Given the description of an element on the screen output the (x, y) to click on. 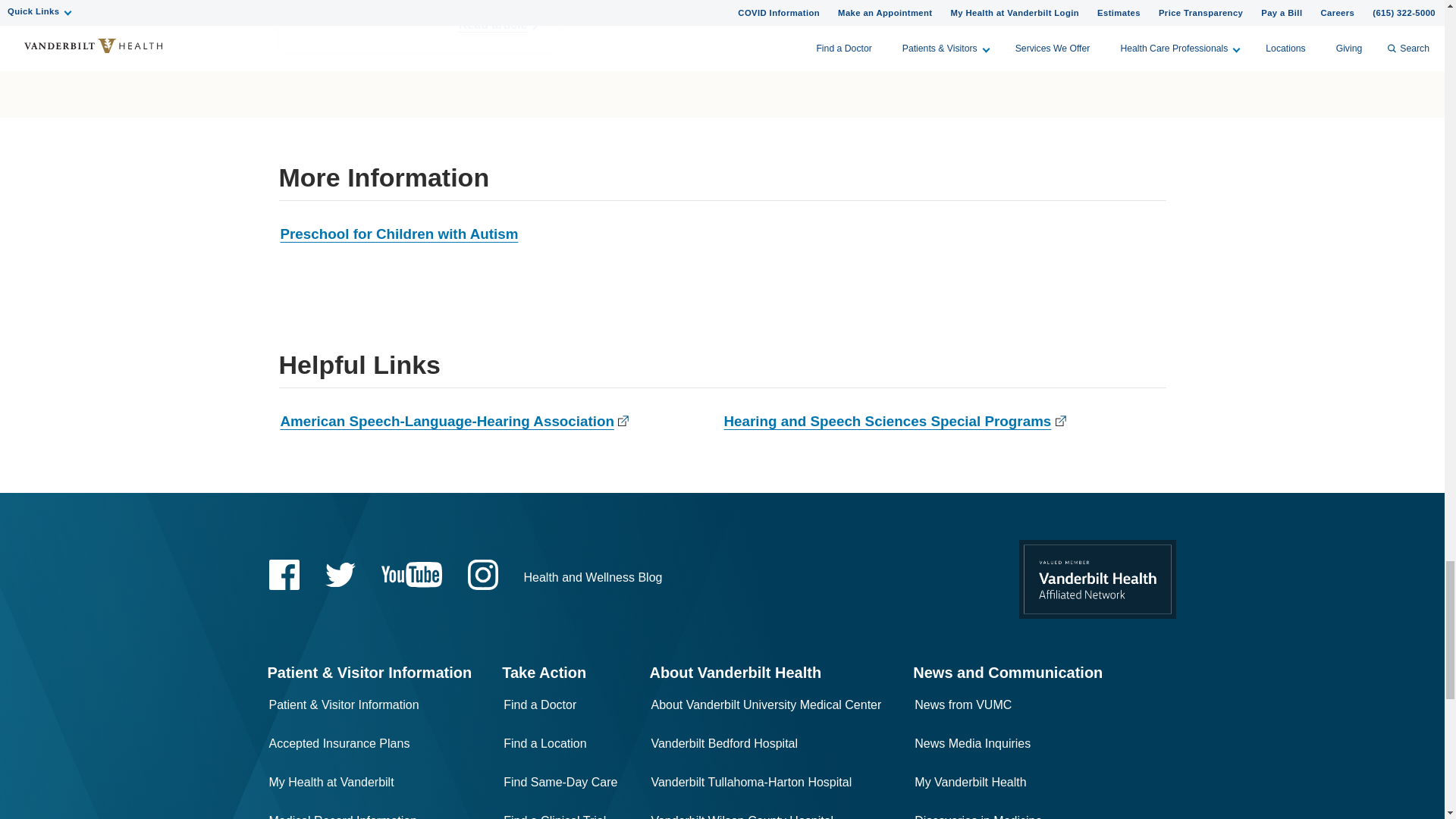
facebook icon (282, 574)
twitter icon (339, 574)
youtube icon (410, 574)
